Given the description of an element on the screen output the (x, y) to click on. 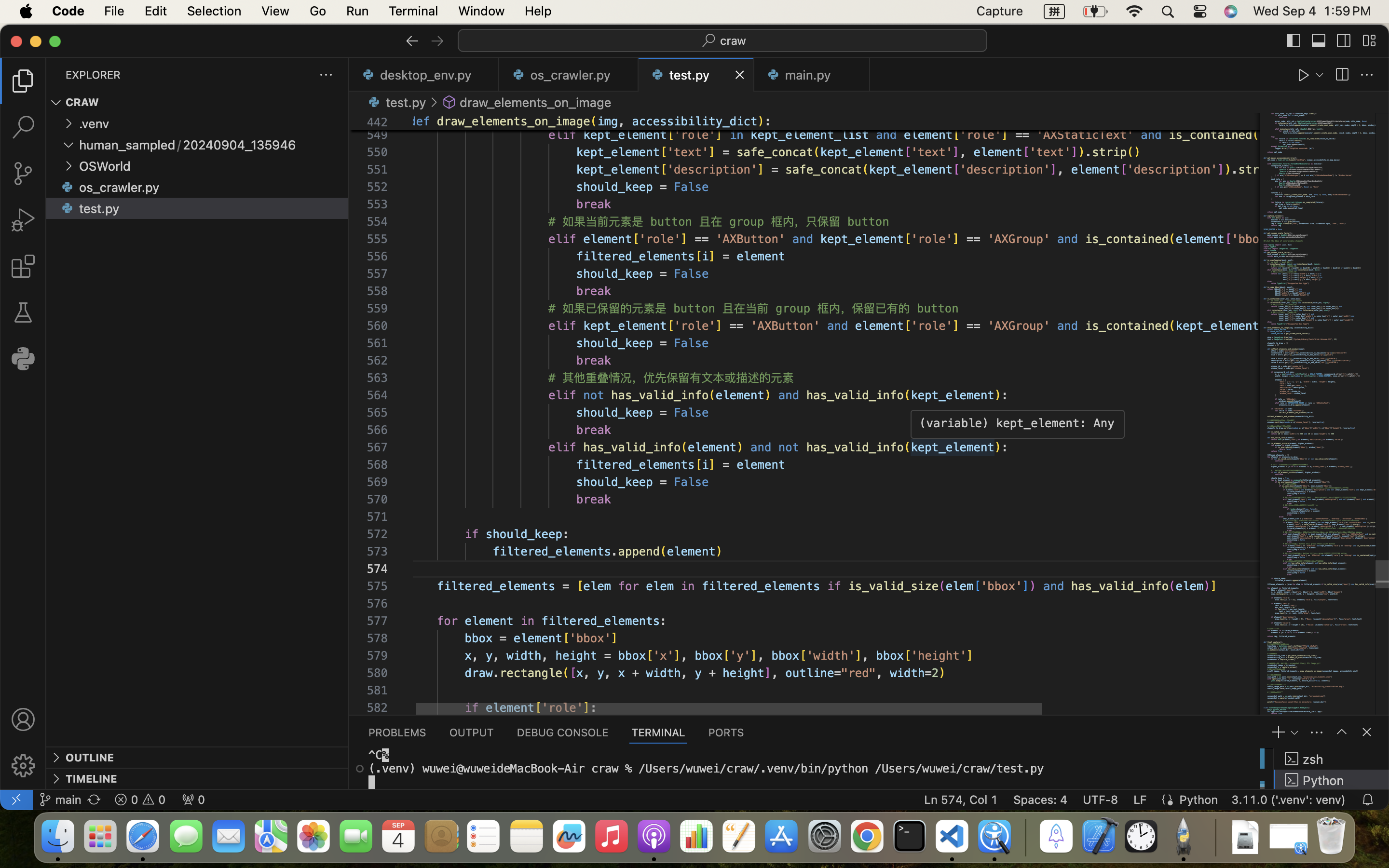
0  Element type: AXRadioButton (23, 127)
 Element type: AXStaticText (22, 719)
TIMELINE Element type: AXStaticText (91, 778)
, Element type: AXStaticText (625, 121)
